Given the description of an element on the screen output the (x, y) to click on. 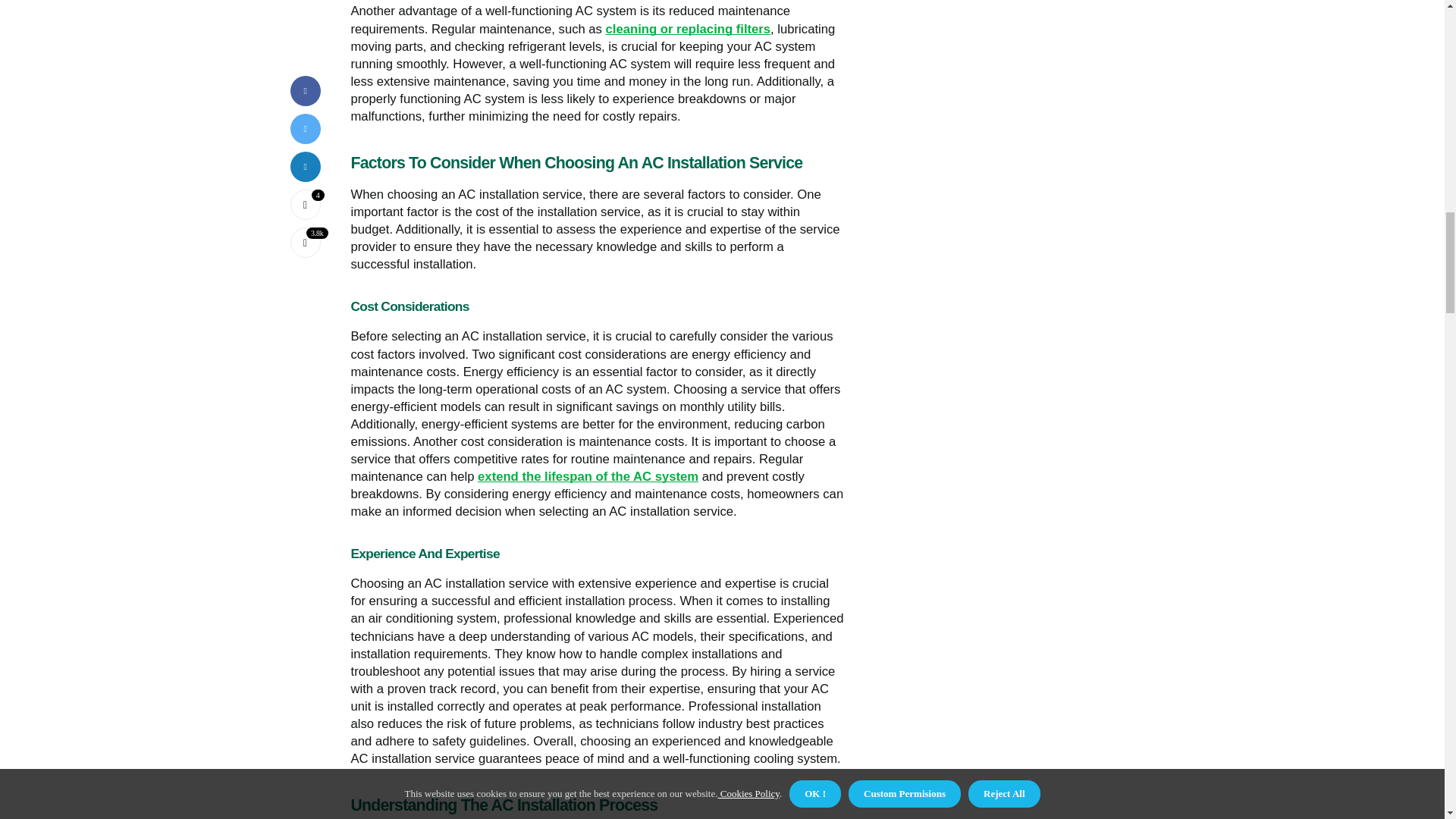
cleaning or replacing filters (688, 29)
extend the lifespan of the AC system (587, 476)
